Given the description of an element on the screen output the (x, y) to click on. 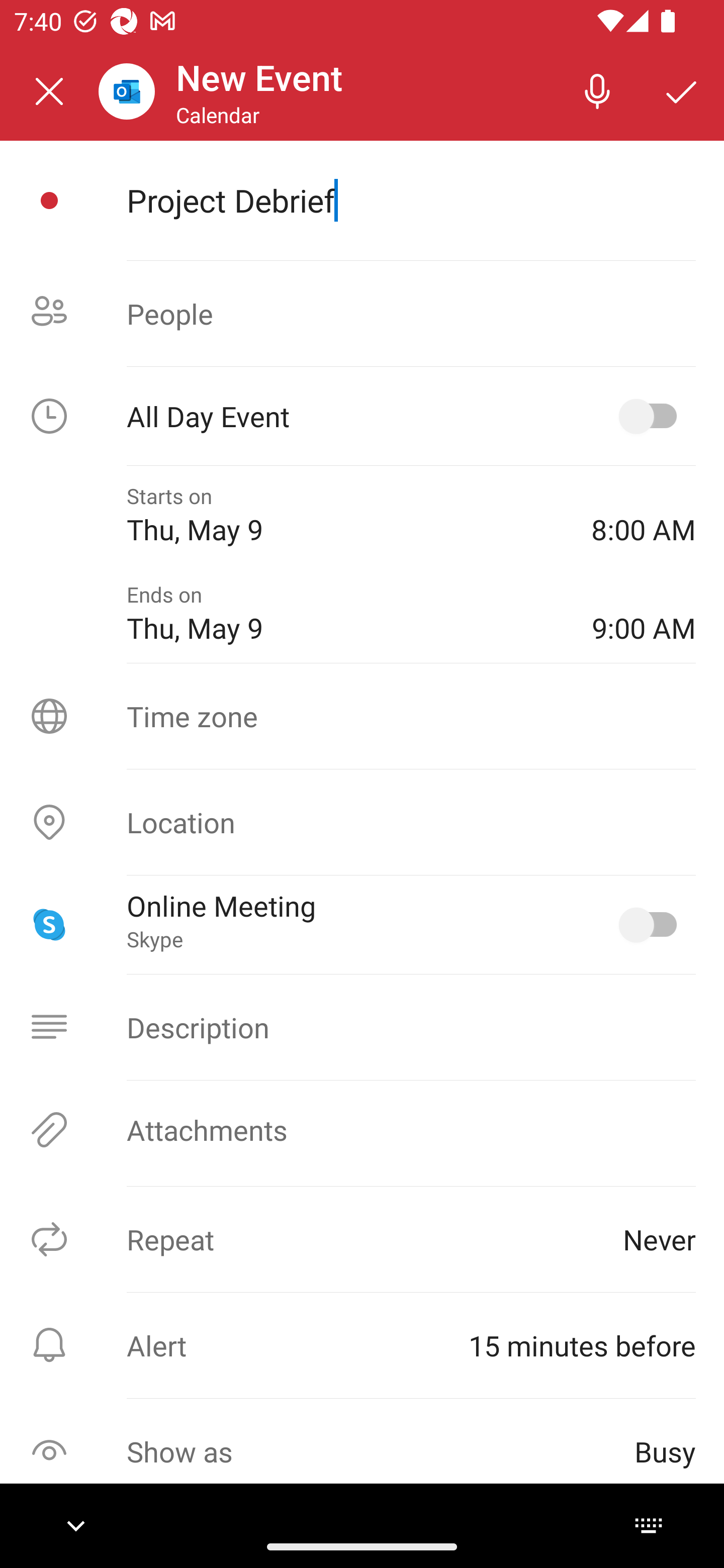
Close (49, 91)
Save (681, 90)
Project Debrief (410, 200)
Event icon picker (48, 200)
People (362, 313)
All Day Event (362, 415)
Starts on Thu, May 9 (344, 514)
8:00 AM (643, 514)
Ends on Thu, May 9 (344, 613)
9:00 AM (643, 613)
Time zone (362, 715)
Location (362, 821)
Online Meeting, Skype selected (651, 923)
Description (362, 1026)
Attachments (362, 1129)
Repeat Never (362, 1239)
Alert ⁨15 minutes before (362, 1345)
Show as Busy (362, 1450)
